Given the description of an element on the screen output the (x, y) to click on. 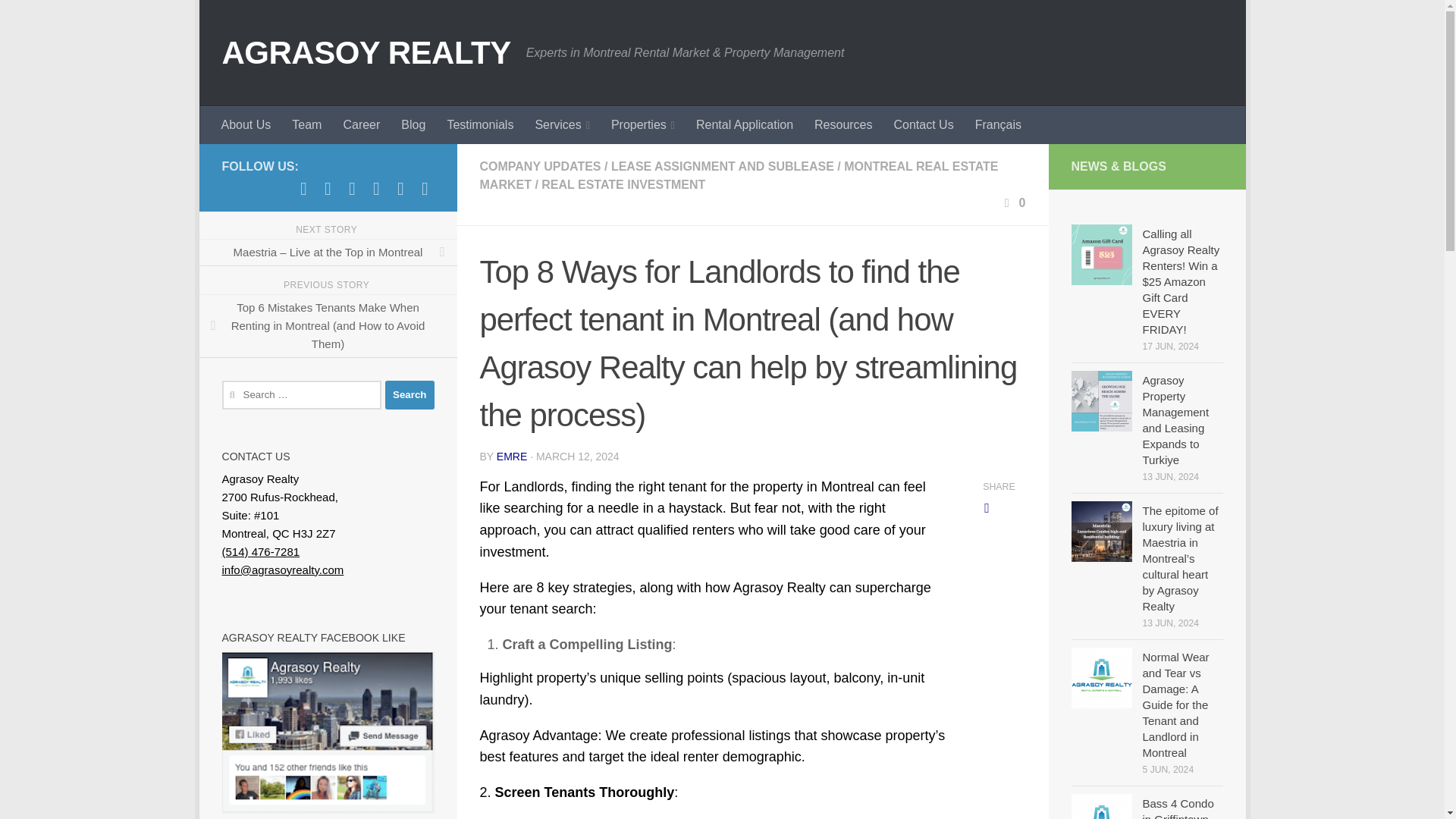
Properties (642, 125)
Blog (412, 125)
Search (409, 394)
Follow us on Instagram (351, 188)
Career (360, 125)
Rental Application (744, 125)
AGRASOY REALTY (366, 53)
Follow us on Facebook (303, 188)
Services (561, 125)
Follow us on Youtube (327, 188)
Contact Us (923, 125)
Resources (842, 125)
Testimonials (479, 125)
About Us (246, 125)
Skip to content (263, 20)
